Given the description of an element on the screen output the (x, y) to click on. 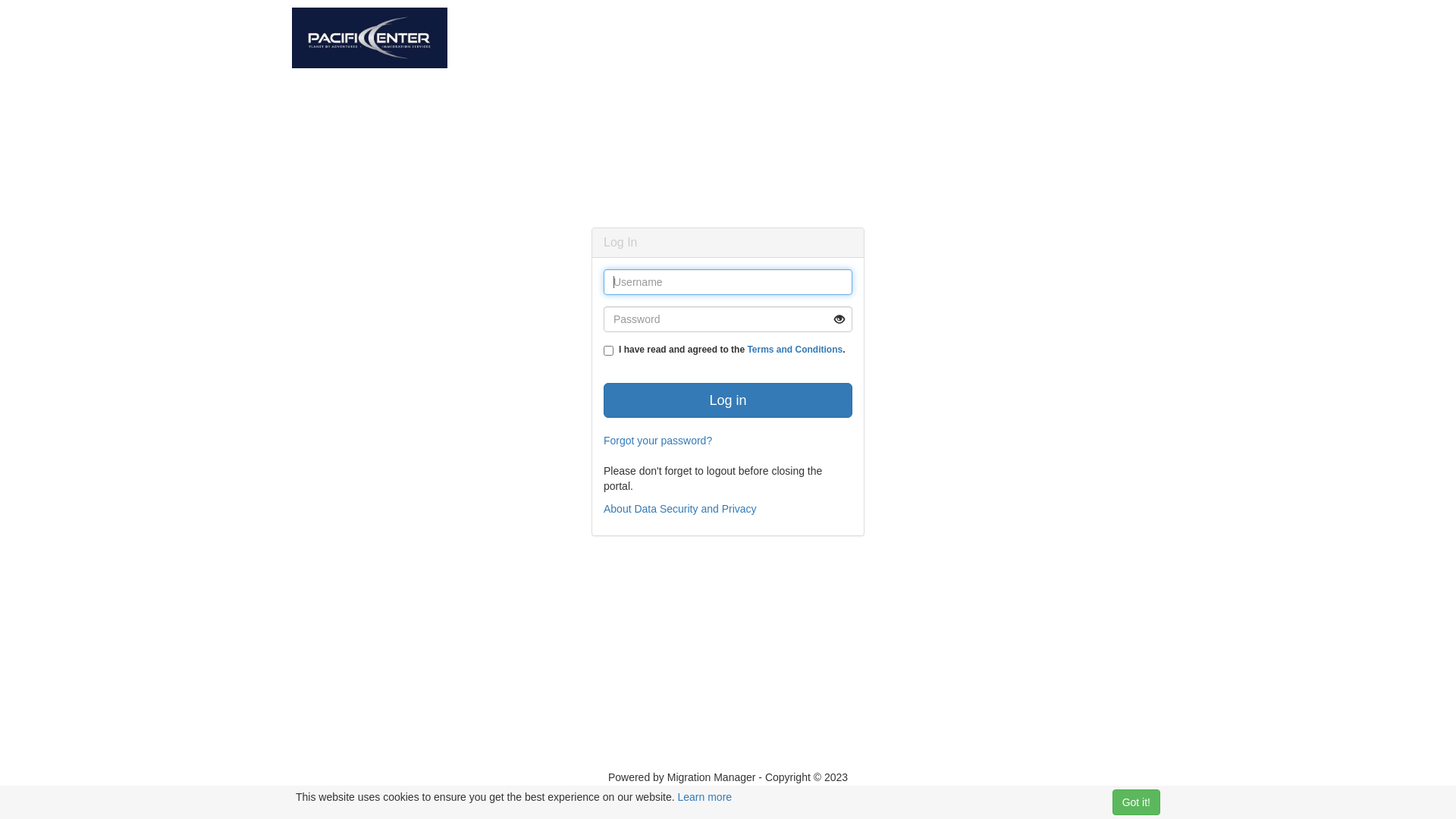
Learn more Element type: text (704, 796)
Forgot your password? Element type: text (657, 440)
Terms and Conditions Element type: text (794, 349)
About Data Security and Privacy Element type: text (679, 508)
Got it! Element type: text (1136, 802)
Log in Element type: text (727, 399)
About Portal Security Element type: text (727, 792)
